Given the description of an element on the screen output the (x, y) to click on. 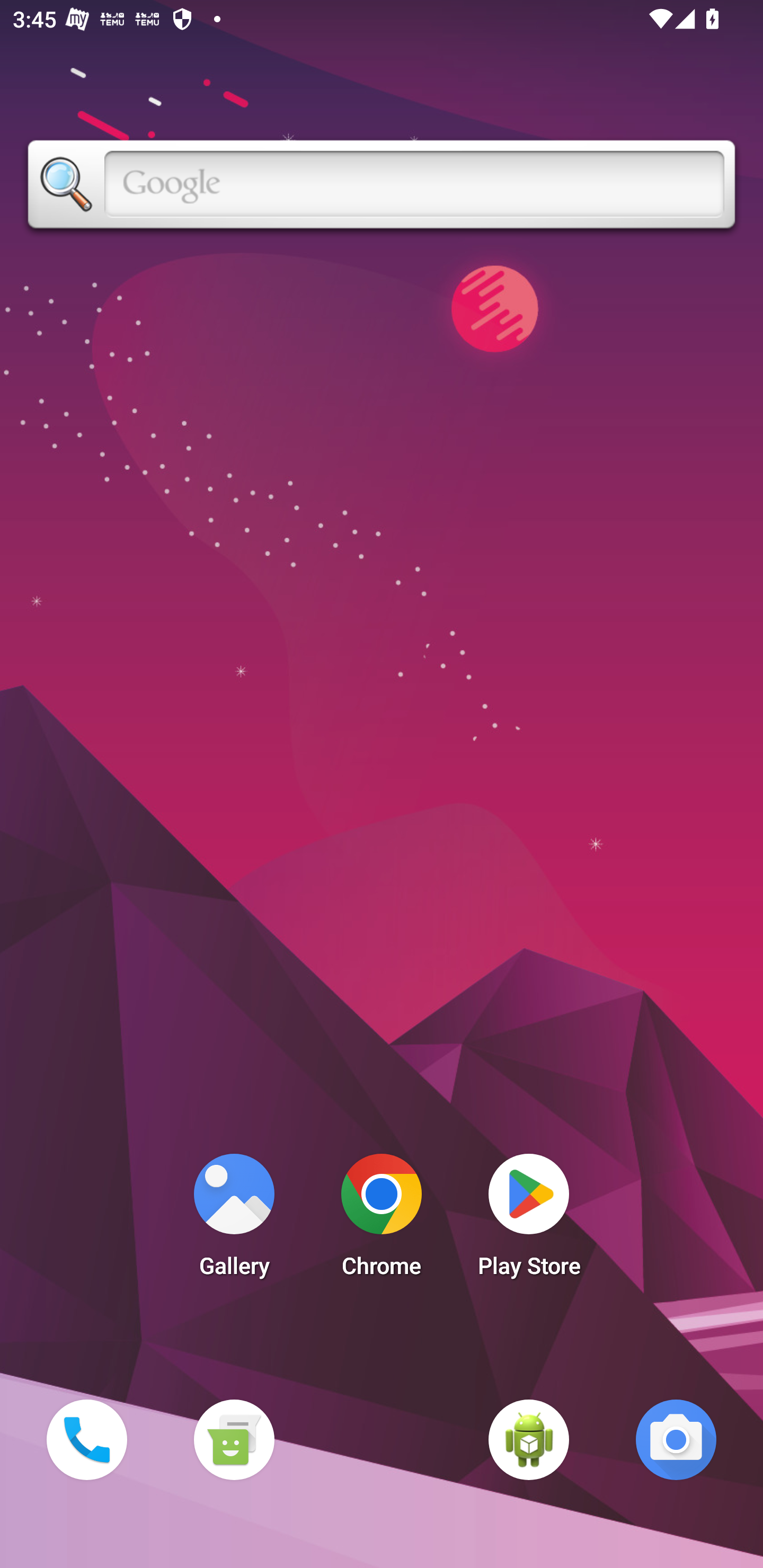
Gallery (233, 1220)
Chrome (381, 1220)
Play Store (528, 1220)
Phone (86, 1439)
Messaging (233, 1439)
WebView Browser Tester (528, 1439)
Camera (676, 1439)
